Given the description of an element on the screen output the (x, y) to click on. 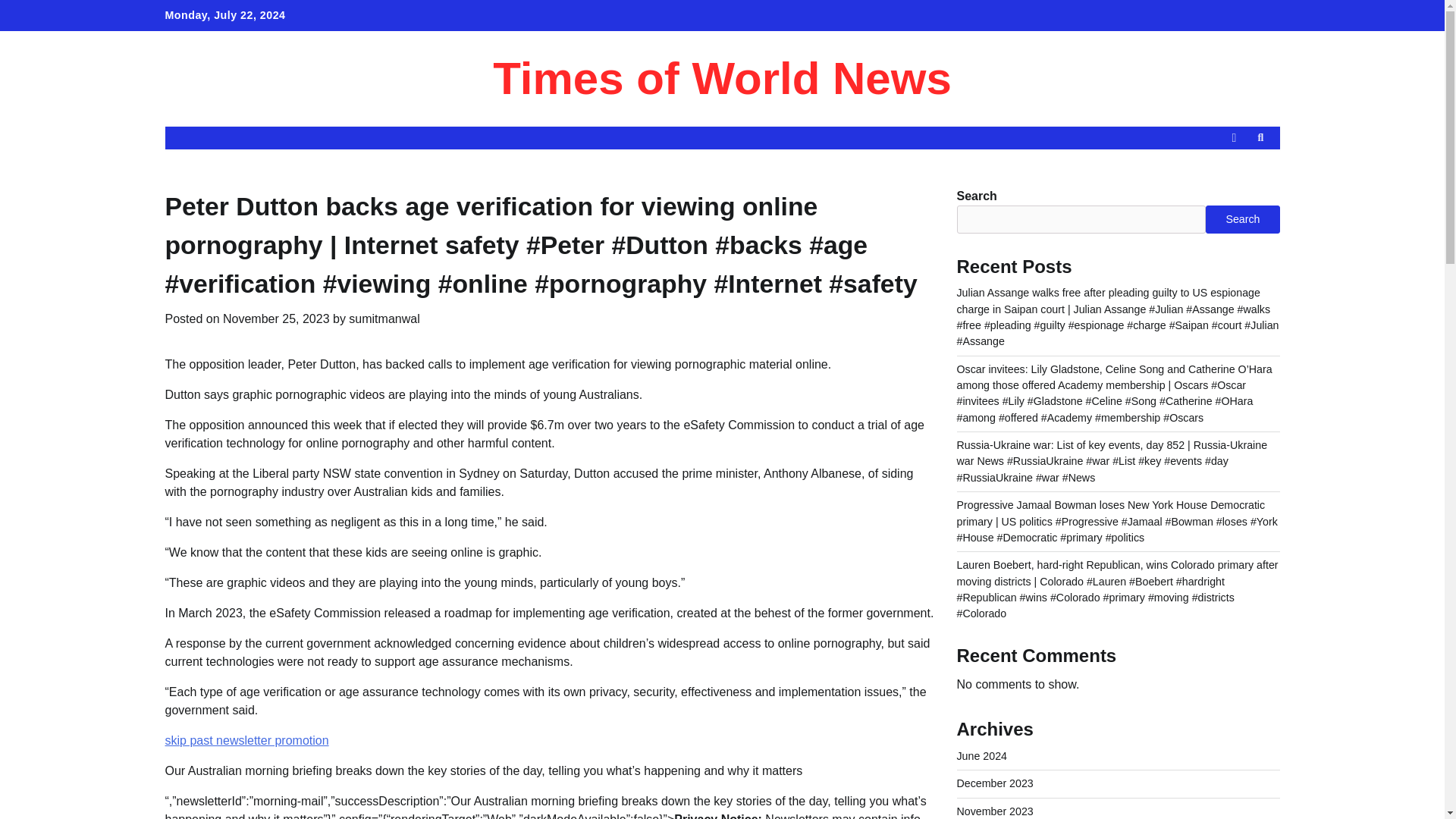
Search (1232, 173)
View Random Post (1233, 137)
Search (1260, 137)
November 25, 2023 (276, 318)
Times of World News (722, 78)
sumitmanwal (384, 318)
June 2024 (981, 756)
Search (1242, 218)
November 2023 (994, 811)
December 2023 (994, 783)
skip past newsletter promotion (247, 739)
